Given the description of an element on the screen output the (x, y) to click on. 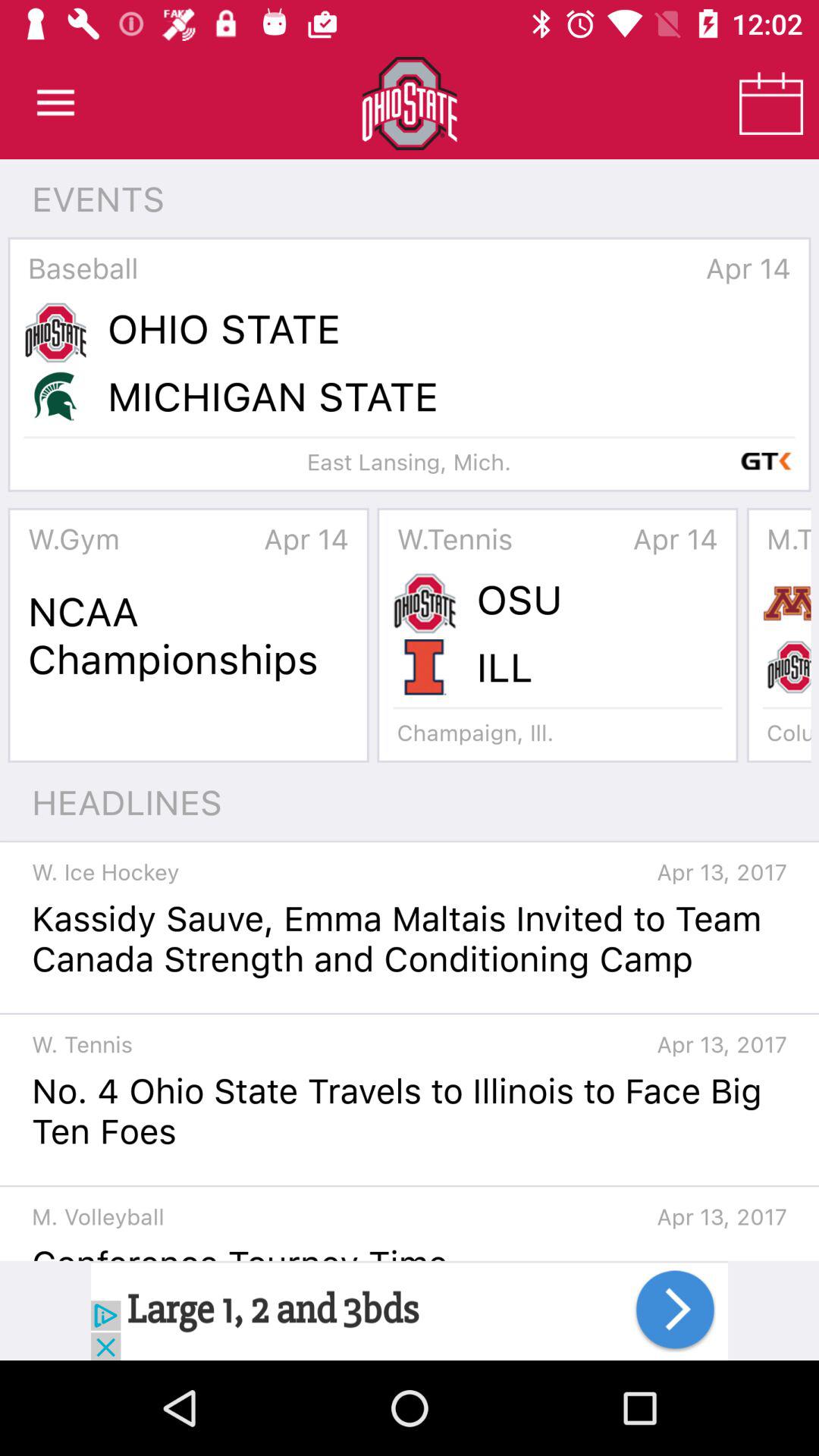
go to other website (409, 1310)
